Given the description of an element on the screen output the (x, y) to click on. 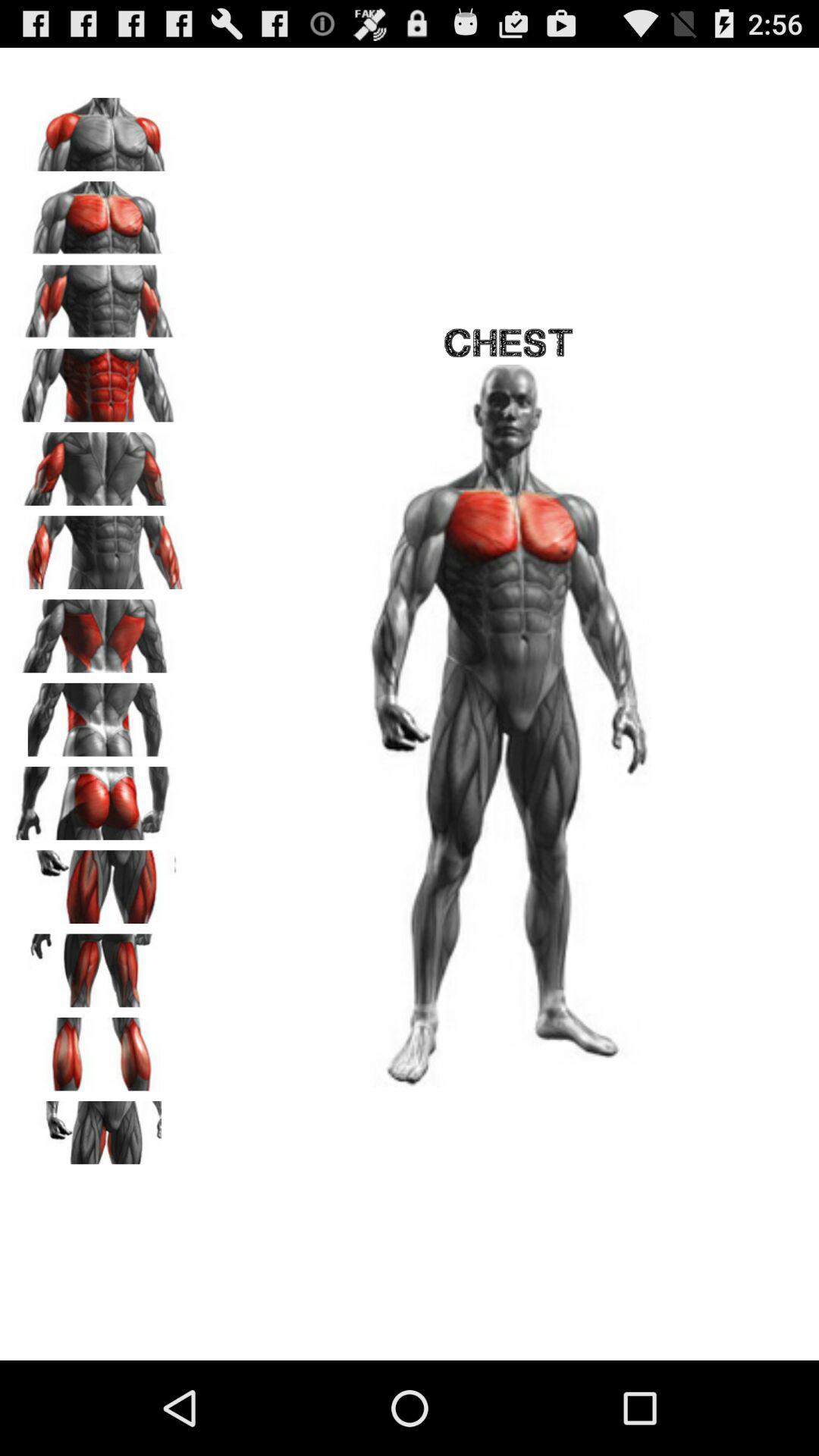
toggle arms (99, 547)
